Given the description of an element on the screen output the (x, y) to click on. 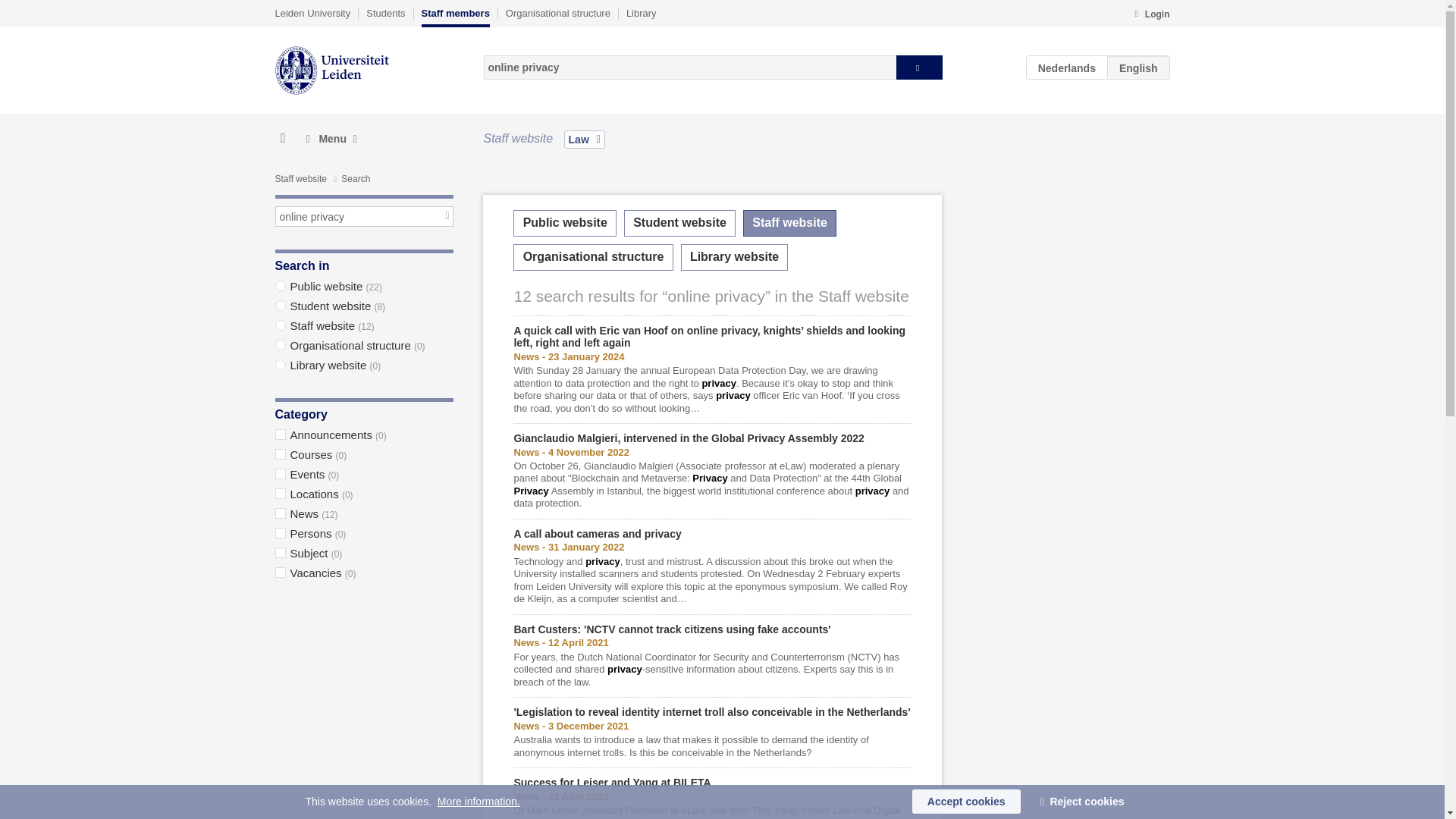
Organisational structure (557, 13)
NL (1067, 67)
Student website (679, 222)
online privacy (363, 216)
Library (641, 13)
Menu (330, 139)
Staff website (788, 222)
Login (1151, 14)
Law (584, 139)
Staff website (300, 178)
Organisational structure (592, 257)
online privacy (689, 67)
Staff members (455, 17)
Public website (564, 222)
